Given the description of an element on the screen output the (x, y) to click on. 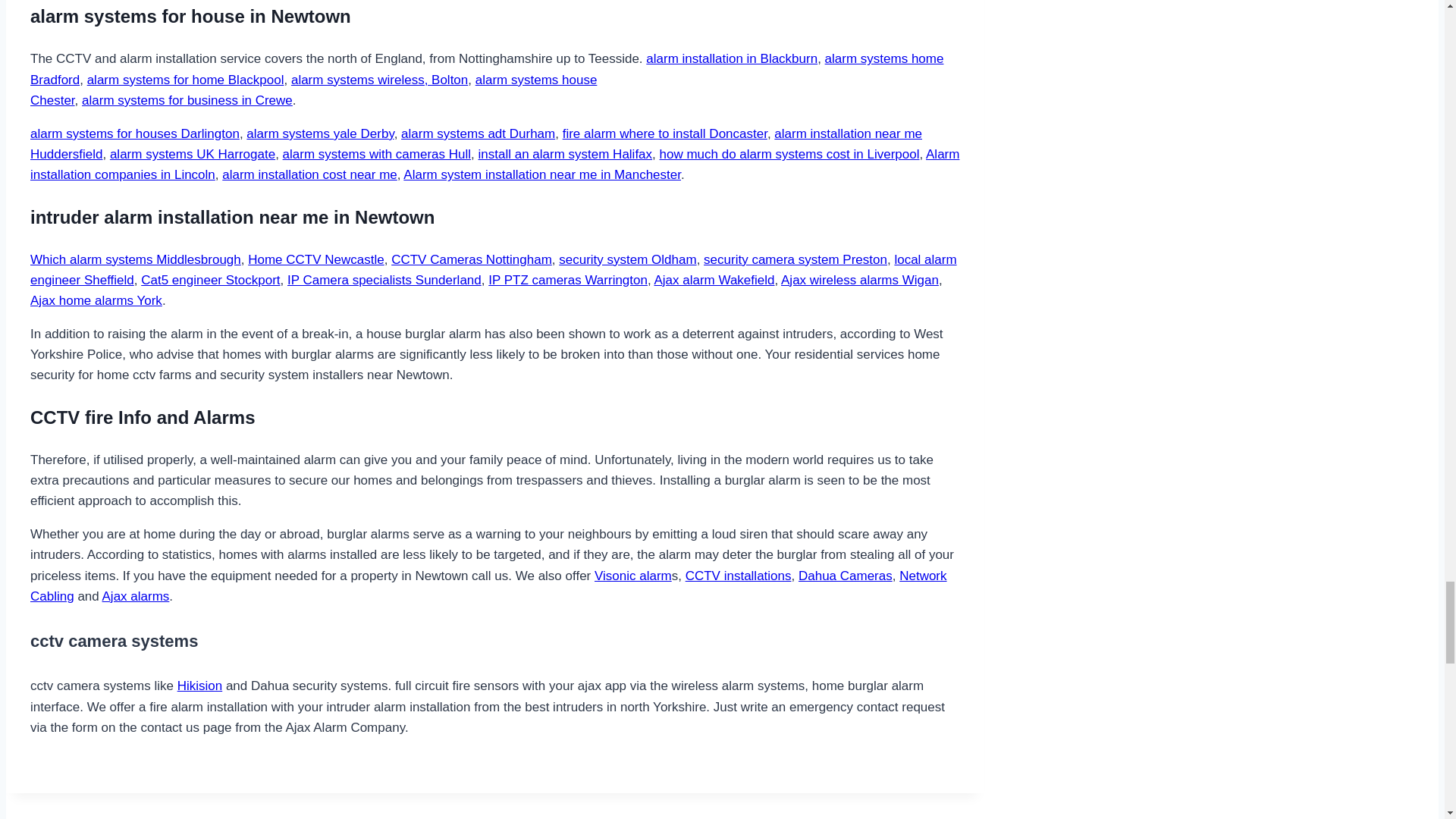
alarm systems for houses Darlington (135, 133)
Which alarm systems Middlesbrough (135, 259)
Alarm system installation near me in Manchester (542, 174)
alarm systems UK Harrogate (313, 89)
alarm systems for home Blackpool (192, 154)
alarm systems home Bradford (185, 79)
alarm systems yale Derby (486, 68)
Alarm installation companies in Lincoln (319, 133)
alarm installation cost near me (494, 164)
how much do alarm systems cost in Liverpool (309, 174)
install an alarm system Halifax (789, 154)
alarm installation in Blackburn (564, 154)
alarm installation near me Huddersfield (731, 58)
alarm systems wireless, Bolton (475, 143)
